Given the description of an element on the screen output the (x, y) to click on. 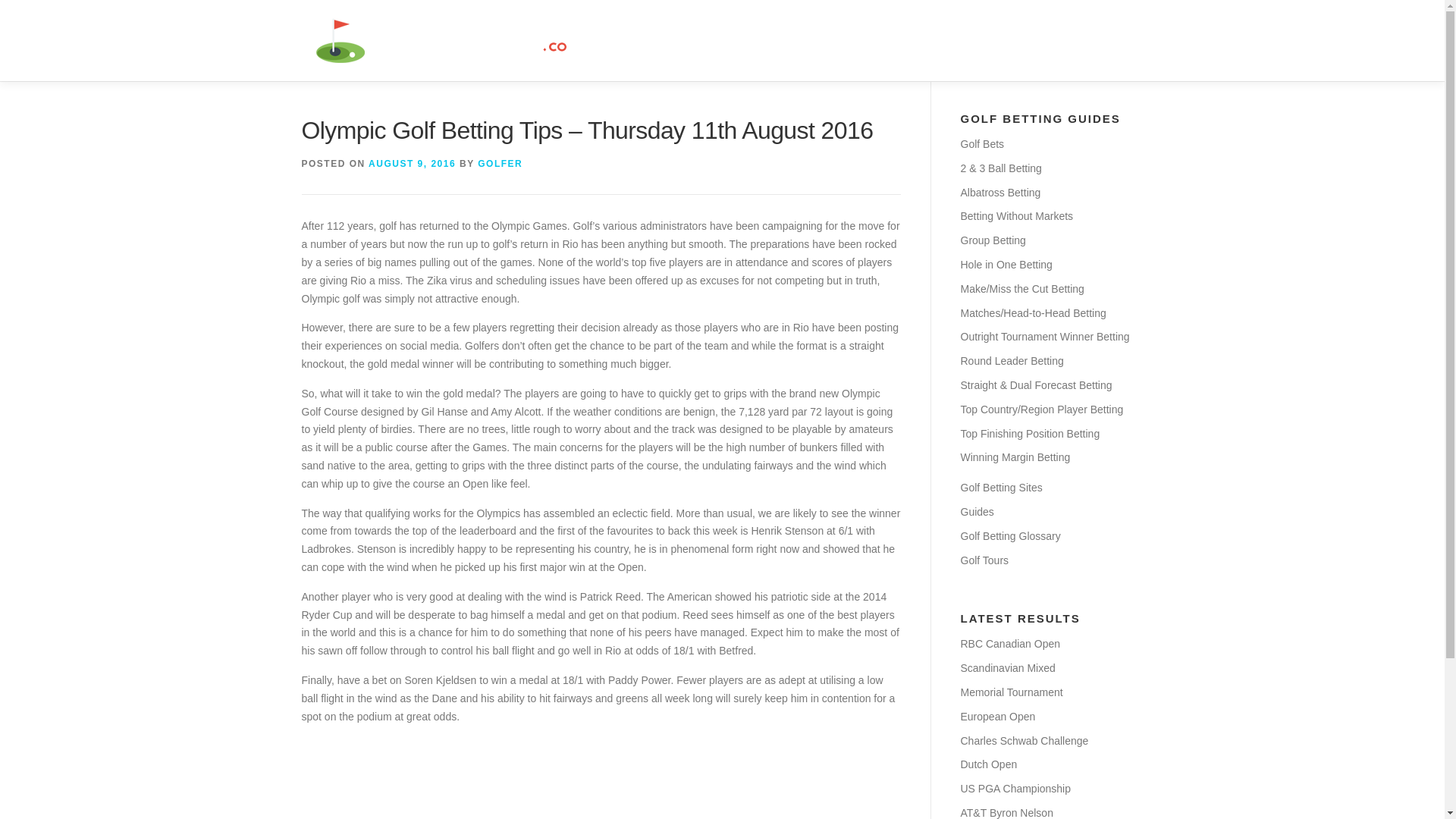
Winning Margin Betting (1014, 457)
Top Finishing Position Betting (1029, 433)
Betting Without Markets (1016, 215)
Round Leader Betting (1010, 360)
Golf Bets (981, 143)
Golf Betting Sites (1000, 487)
Outright Tournament Winner Betting (1044, 336)
Hole in One Betting (1005, 264)
AUGUST 9, 2016 (411, 163)
Guides (975, 511)
